Given the description of an element on the screen output the (x, y) to click on. 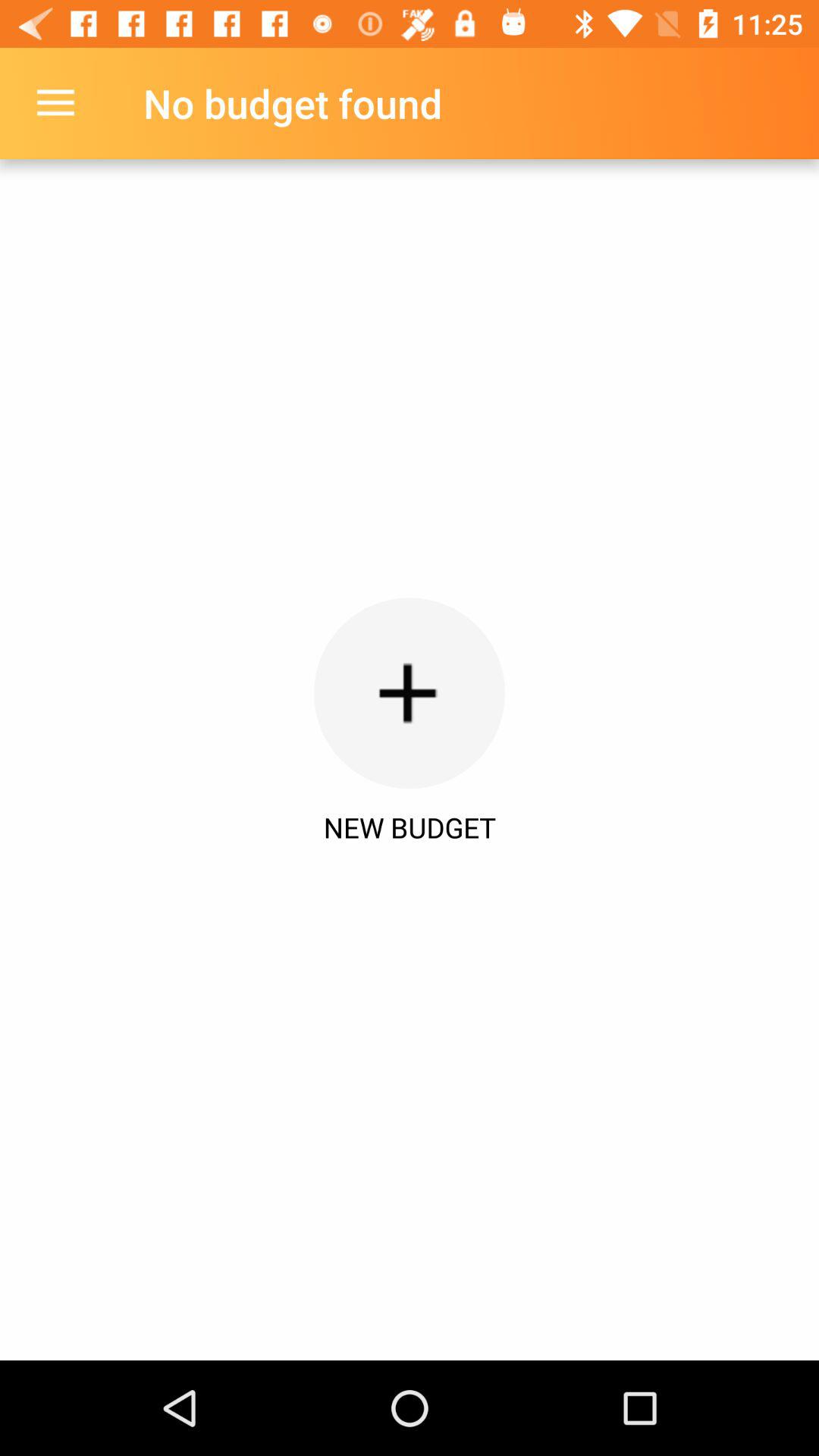
choose item next to no budget found (55, 103)
